Given the description of an element on the screen output the (x, y) to click on. 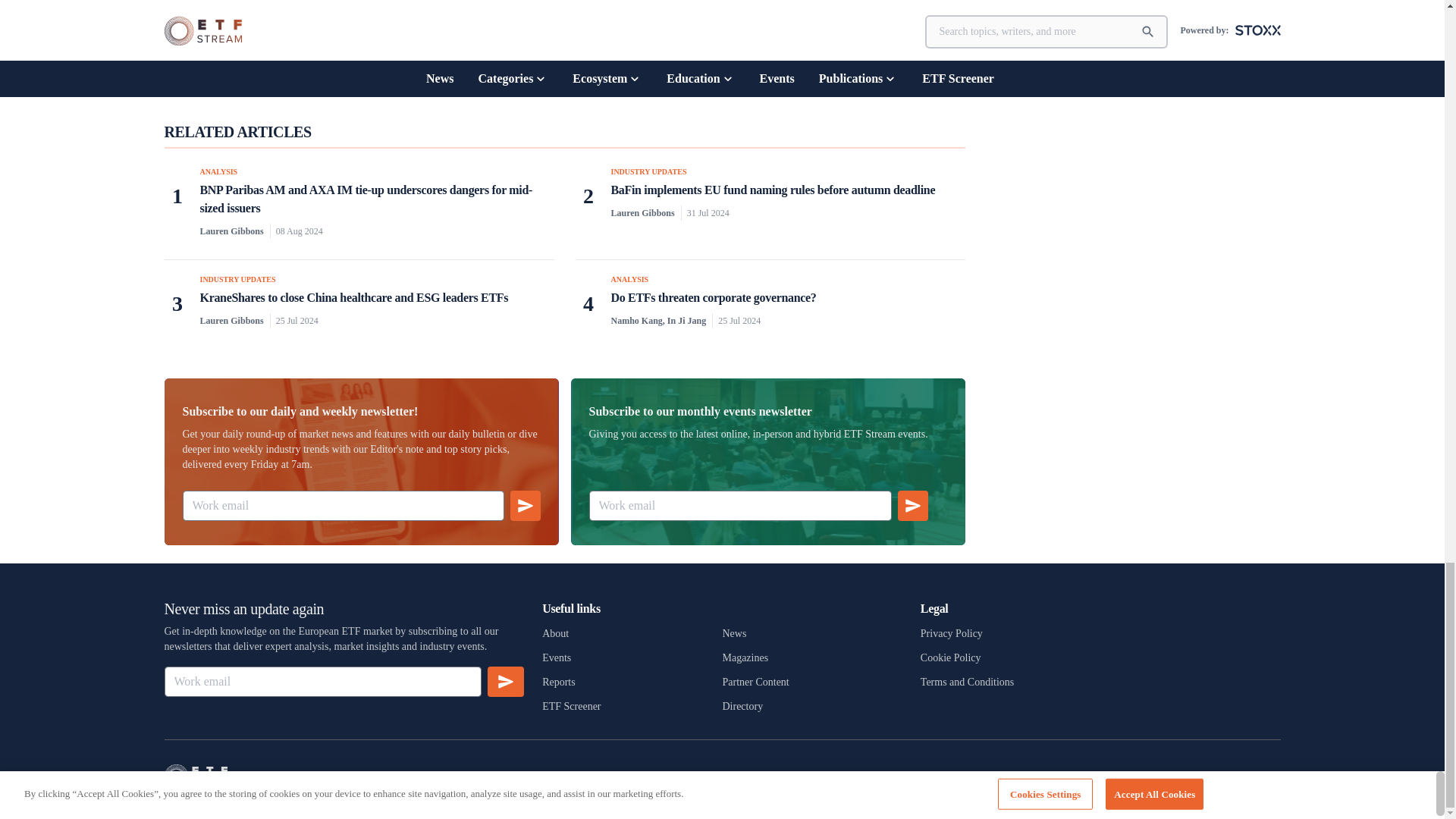
ESG (585, 56)
ETF LAUNCH (628, 57)
